Given the description of an element on the screen output the (x, y) to click on. 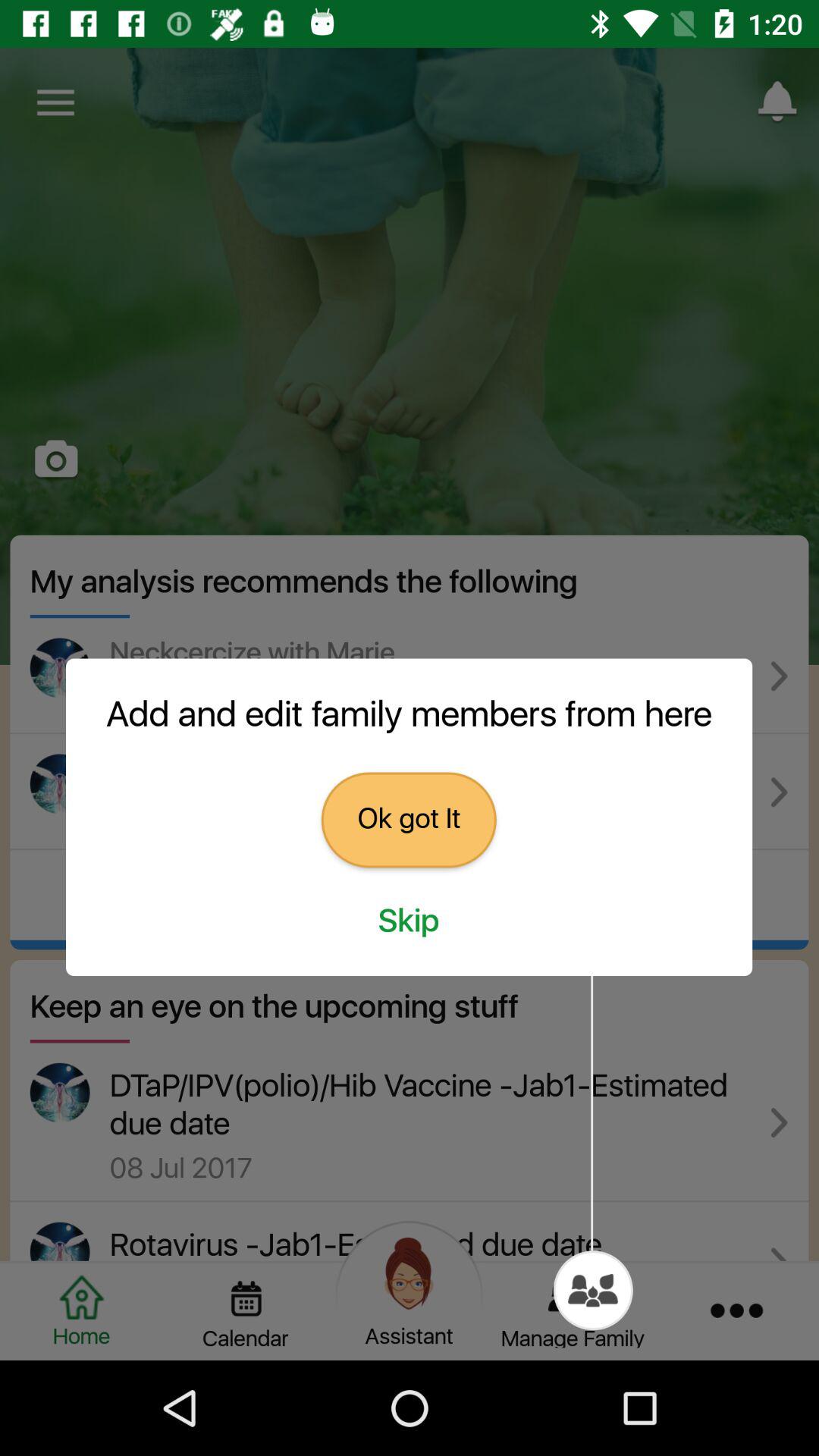
swipe to ok got it icon (408, 819)
